Given the description of an element on the screen output the (x, y) to click on. 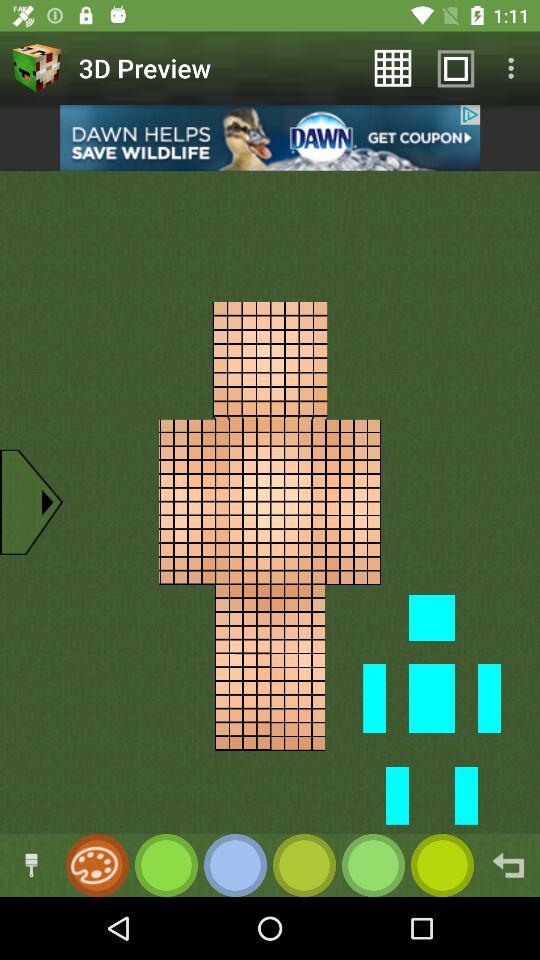
choose color button (235, 865)
